Given the description of an element on the screen output the (x, y) to click on. 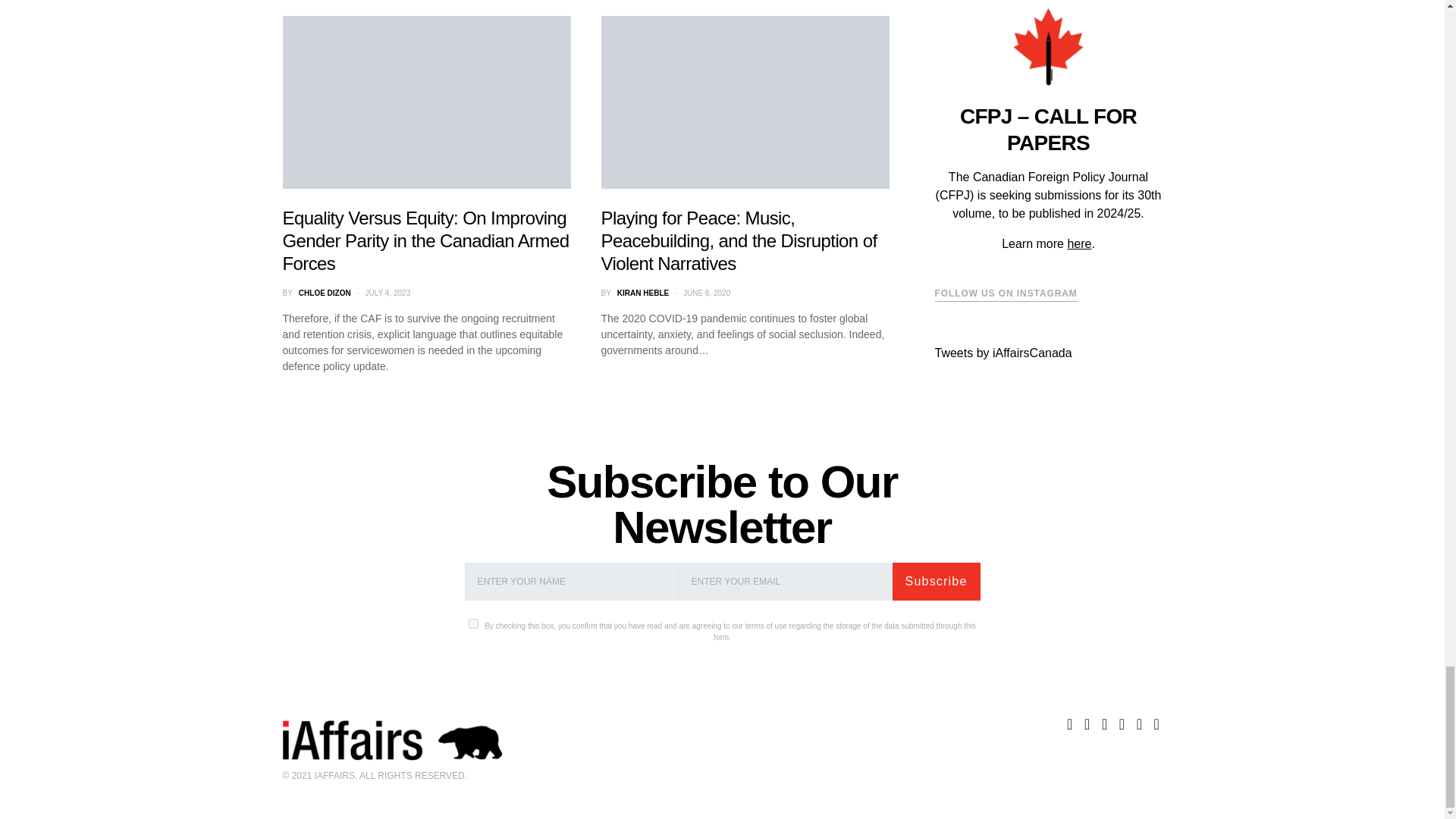
View all posts by Kiran Heble (642, 292)
View all posts by Chloe Dizon (324, 292)
on (473, 623)
